Given the description of an element on the screen output the (x, y) to click on. 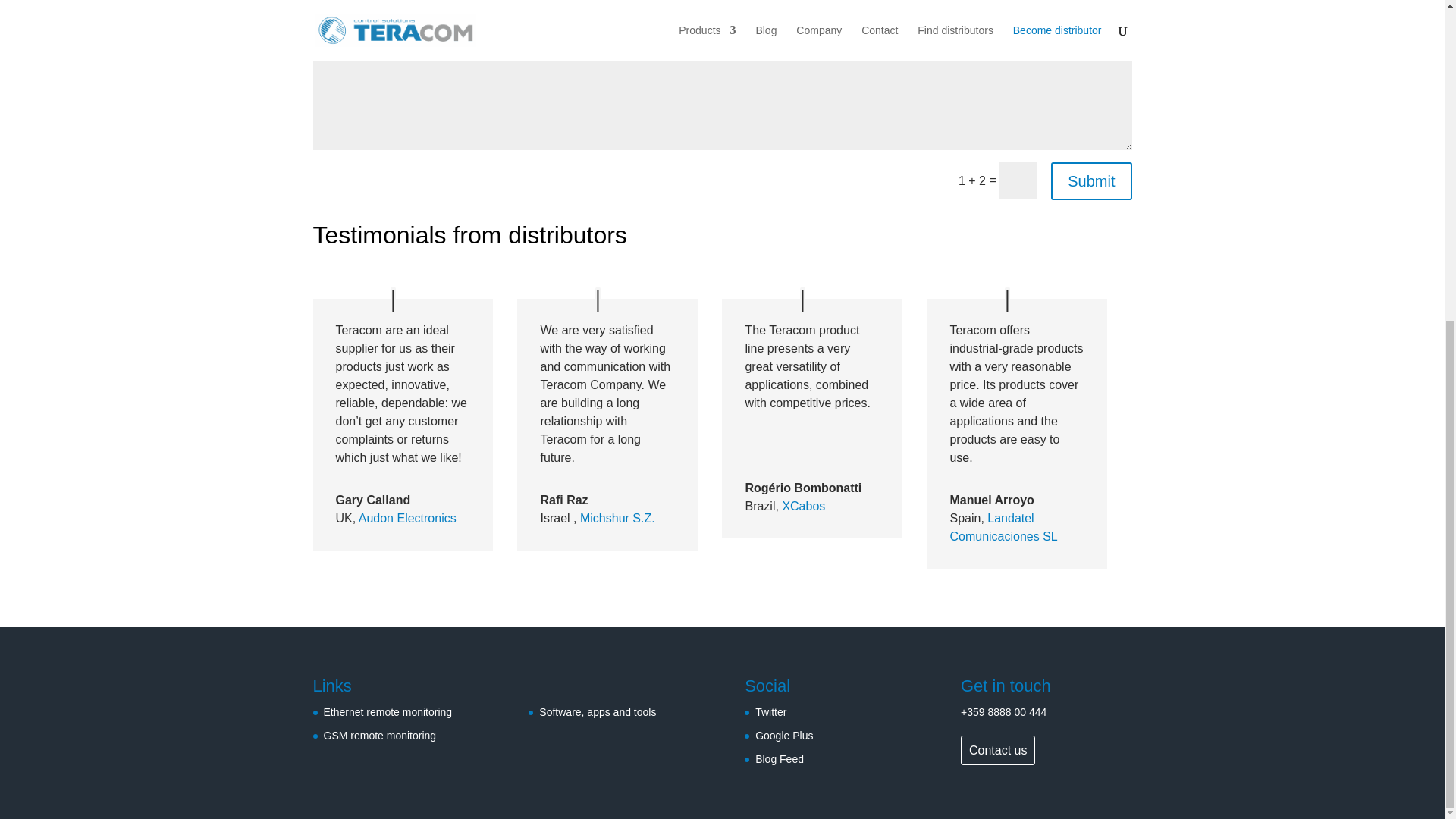
XCabos (803, 505)
Twitter (770, 711)
Submit (1091, 180)
Google Plus (783, 735)
GSM remote monitoring (379, 735)
Contact us (997, 749)
Blog Feed (779, 758)
Landatel Comunicaciones SL (1003, 526)
Ethernet remote monitoring (387, 711)
Michshur S.Z. (617, 517)
Software, apps and tools (597, 711)
Audon Electronics (407, 517)
